Given the description of an element on the screen output the (x, y) to click on. 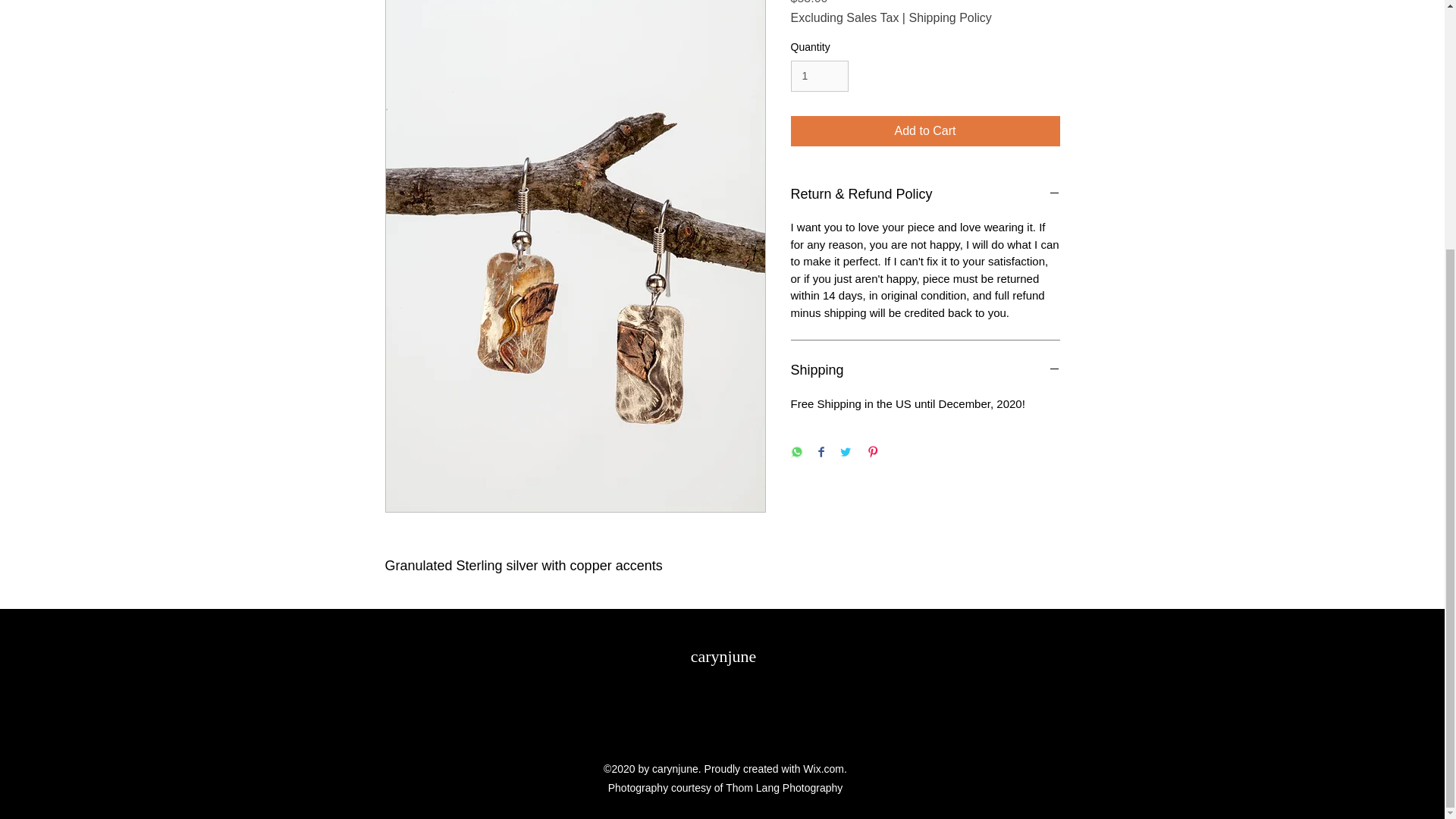
Shipping (924, 370)
Shipping Policy (949, 18)
Add to Cart (924, 131)
carynjune (723, 656)
1 (818, 75)
